Given the description of an element on the screen output the (x, y) to click on. 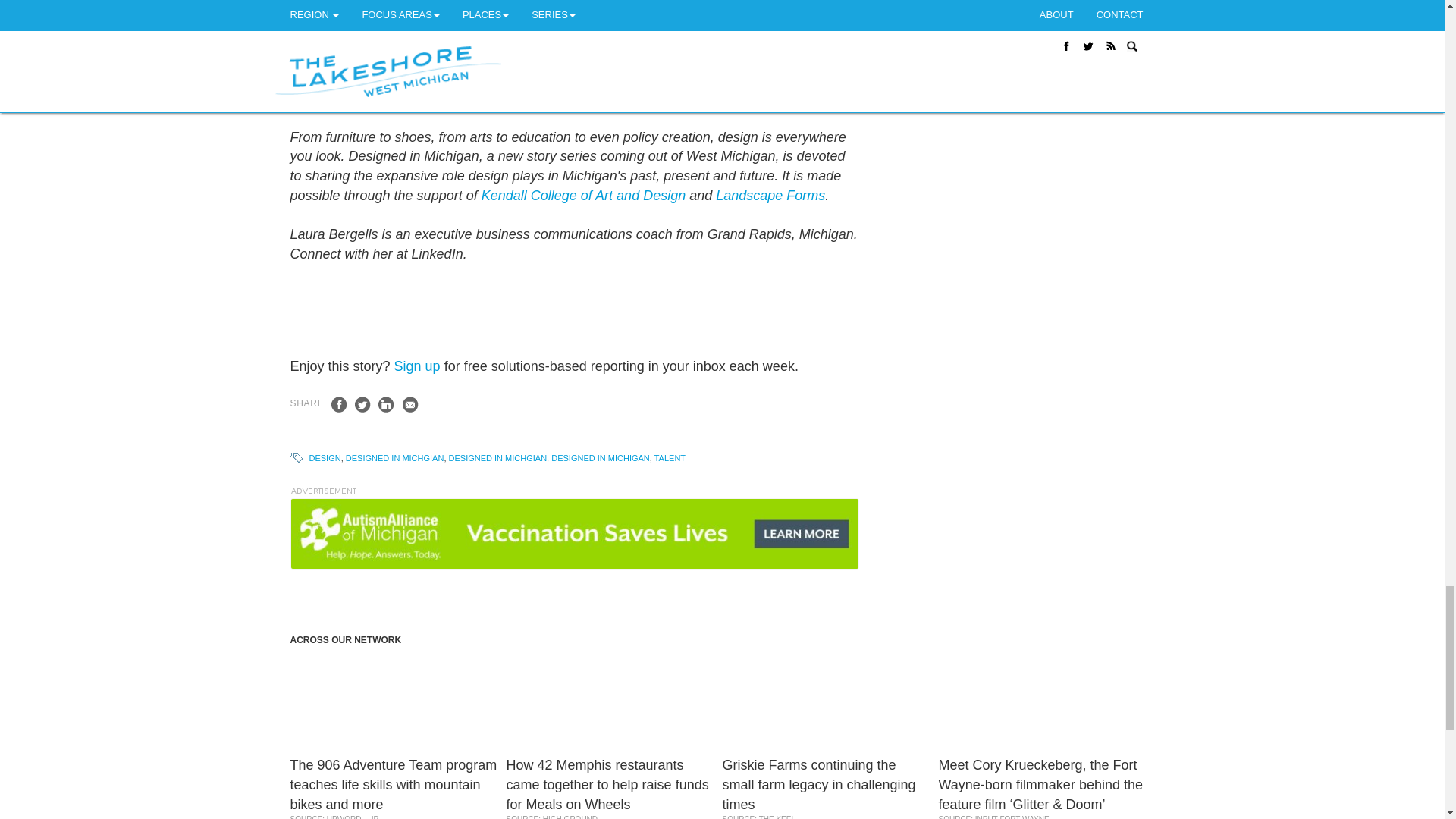
View more stories related to Design (324, 457)
View more stories related to Talent (669, 457)
View more stories related to Designed in Michgian (395, 457)
View more stories related to Designed in Michgian (497, 457)
View more stories related to Designed in Michigan (600, 457)
